Given the description of an element on the screen output the (x, y) to click on. 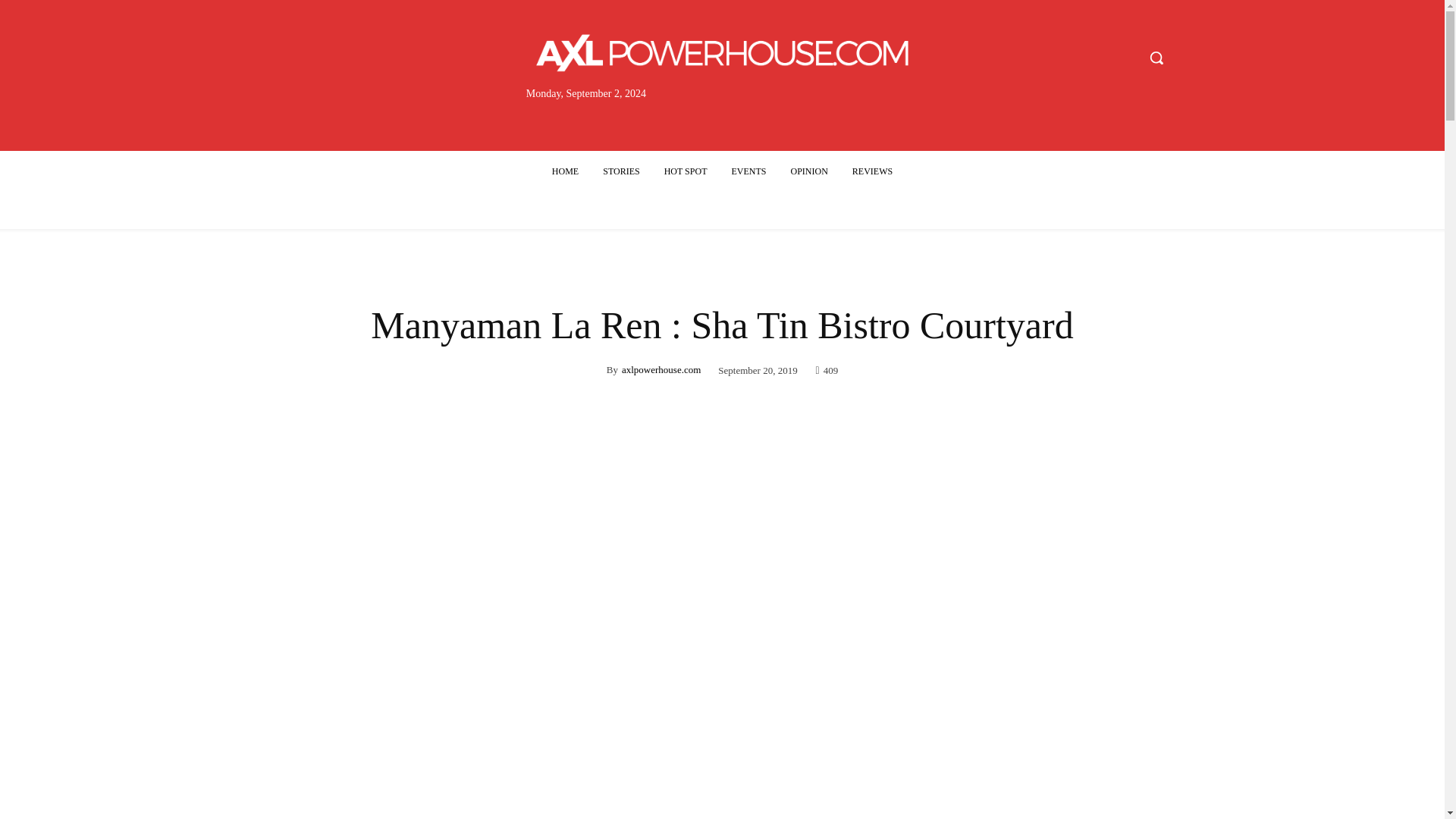
HOT SPOT (685, 171)
EVENTS (748, 171)
OPINION (808, 171)
axlpowerhouse.com (660, 369)
REVIEWS (872, 171)
STORIES (620, 171)
HOME (565, 171)
